Given the description of an element on the screen output the (x, y) to click on. 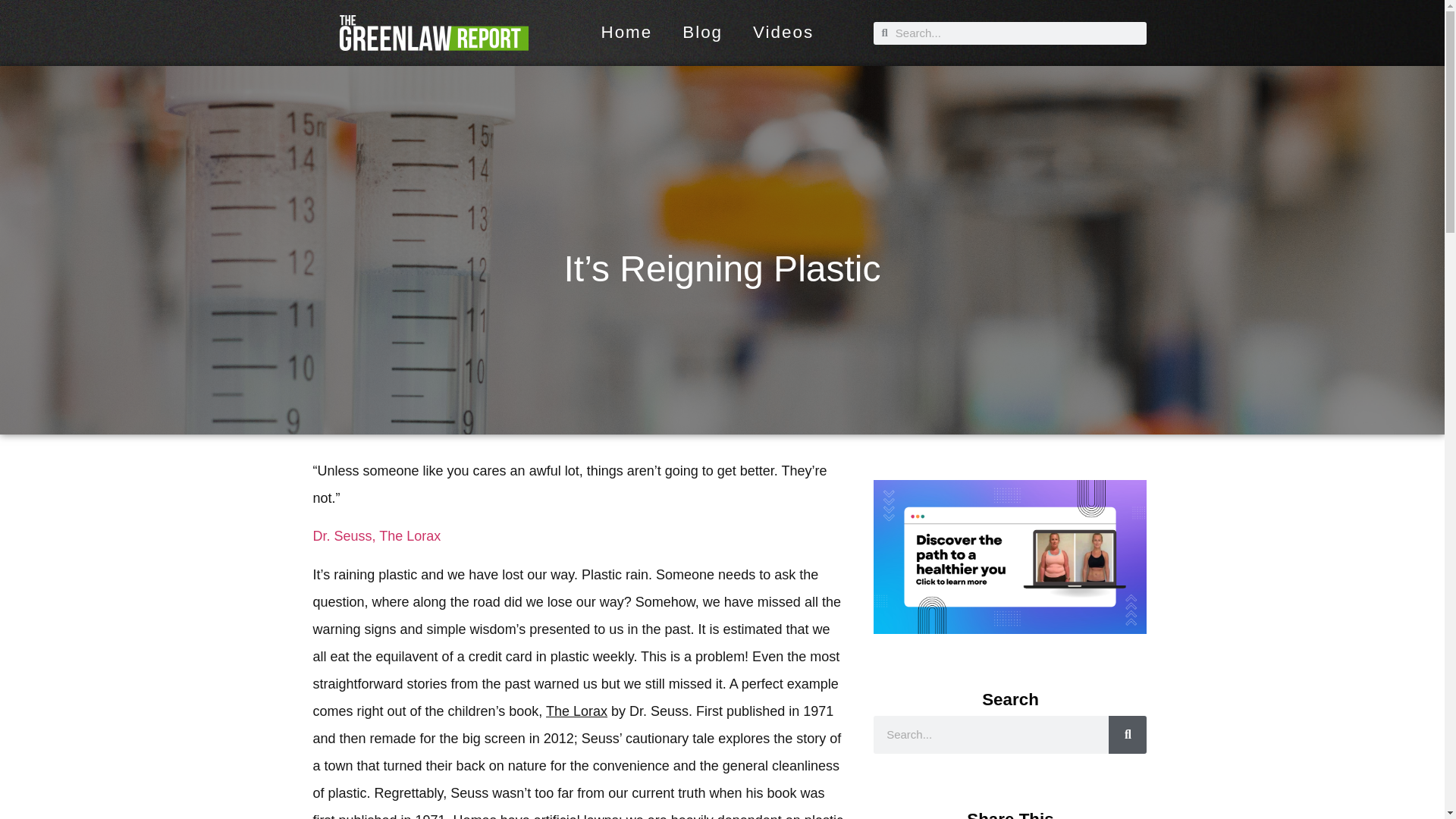
Blog (702, 32)
logo (433, 32)
Dr. Seuss, The Lorax (377, 535)
Videos (783, 32)
Home (625, 32)
